Given the description of an element on the screen output the (x, y) to click on. 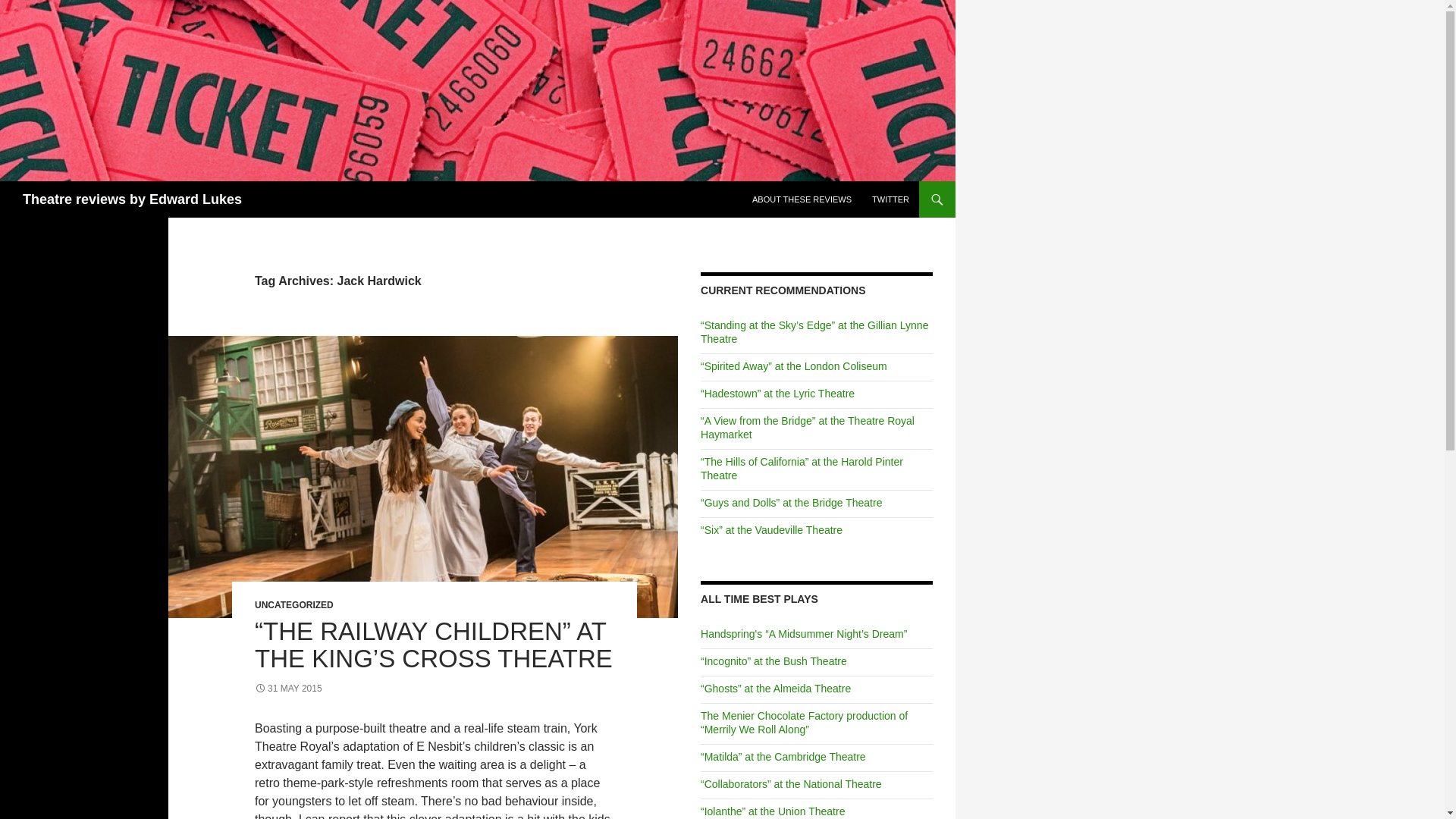
Theatre reviews by Edward Lukes (132, 198)
31 MAY 2015 (287, 688)
TWITTER (890, 198)
ABOUT THESE REVIEWS (801, 198)
UNCATEGORIZED (293, 604)
